Given the description of an element on the screen output the (x, y) to click on. 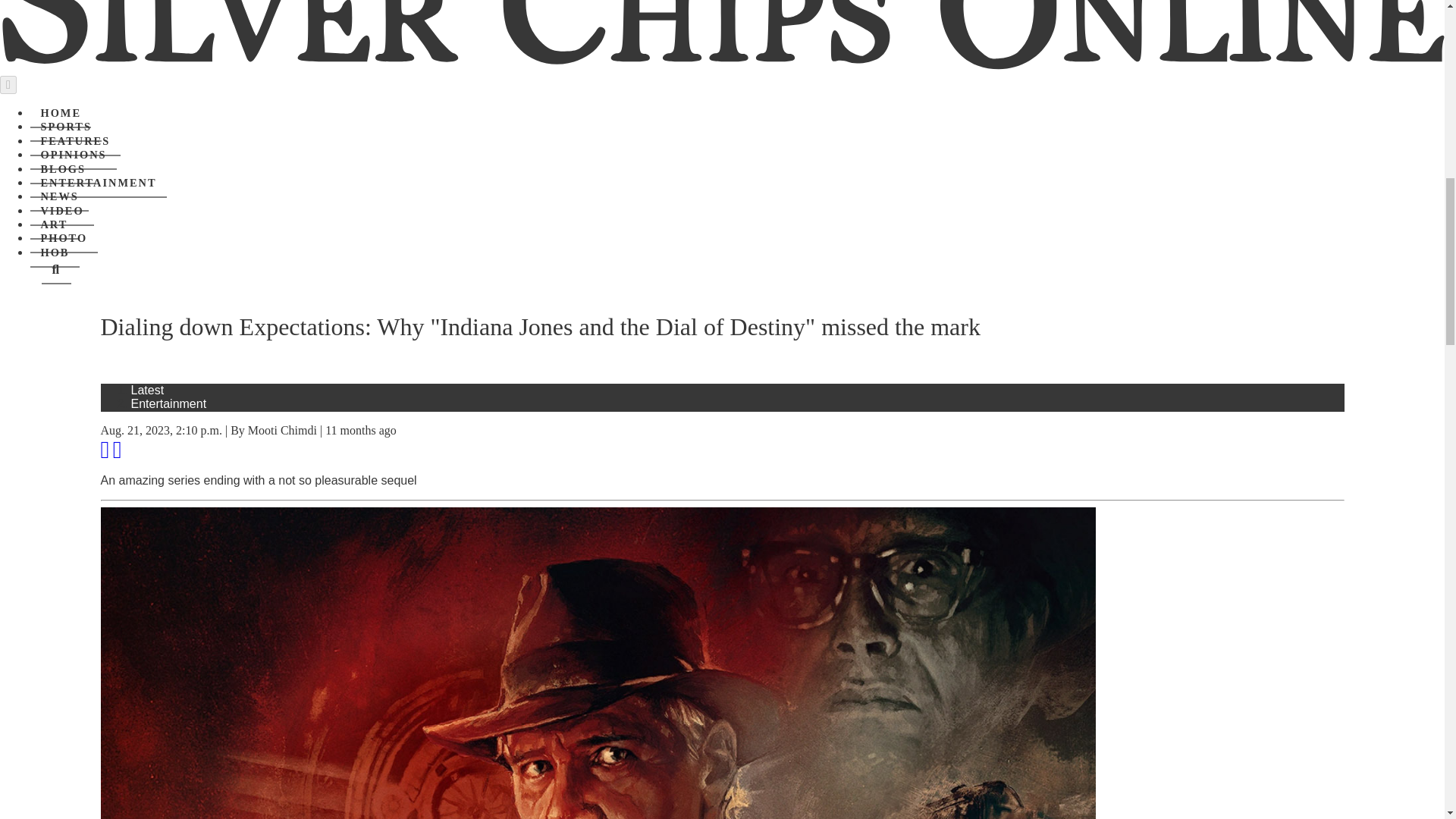
OPINIONS (73, 154)
Mooti Chimdi (282, 430)
ART (54, 224)
PHOTO (63, 238)
NEWS (59, 196)
BLOGS (63, 169)
FEATURES (75, 141)
HOME (60, 113)
HOB (55, 253)
Latest (147, 390)
SPORTS (65, 127)
VIDEO (62, 211)
ENTERTAINMENT (98, 183)
Entertainment (168, 403)
